Given the description of an element on the screen output the (x, y) to click on. 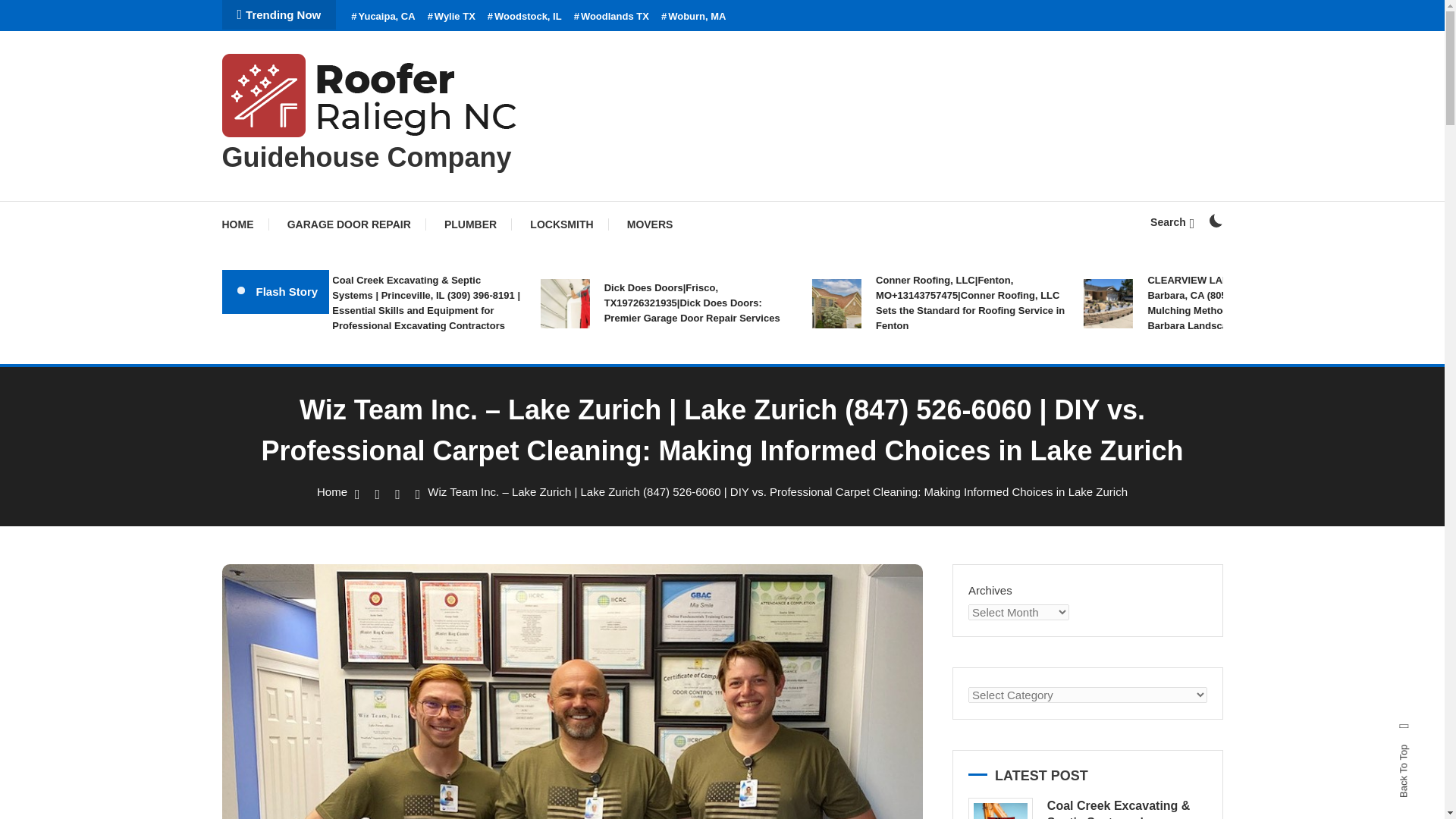
on (1215, 220)
LOCKSMITH (561, 224)
Woodlands TX (611, 16)
Yucaipa, CA (382, 16)
Woburn, MA (693, 16)
Woodstock, IL (524, 16)
Wylie TX (452, 16)
Home (332, 491)
GARAGE DOOR REPAIR (349, 224)
Search (1171, 222)
PLUMBER (470, 224)
HOME (244, 224)
Search (768, 434)
Guidehouse Company (366, 156)
MOVERS (649, 224)
